Given the description of an element on the screen output the (x, y) to click on. 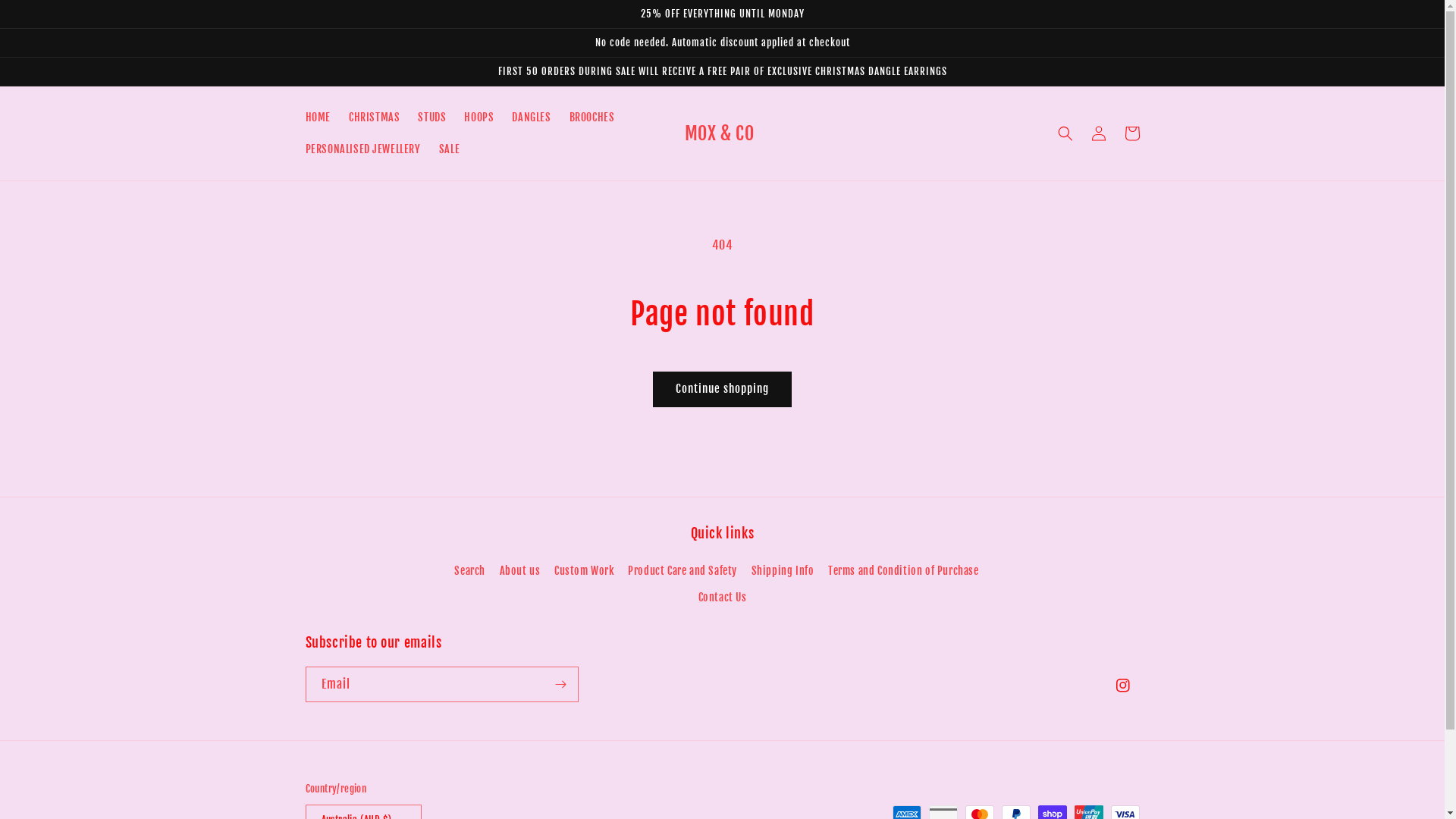
Instagram Element type: text (1122, 685)
Continue shopping Element type: text (721, 389)
Terms and Condition of Purchase Element type: text (903, 570)
BROOCHES Element type: text (592, 117)
MOX & CO Element type: text (718, 132)
About us Element type: text (519, 570)
Contact Us Element type: text (721, 596)
Custom Work Element type: text (584, 570)
PERSONALISED JEWELLERY Element type: text (362, 149)
Log in Element type: text (1097, 133)
HOME Element type: text (316, 117)
STUDS Element type: text (431, 117)
Product Care and Safety Element type: text (682, 570)
CHRISTMAS Element type: text (373, 117)
SALE Element type: text (448, 149)
Shipping Info Element type: text (782, 570)
DANGLES Element type: text (530, 117)
Search Element type: text (469, 572)
HOOPS Element type: text (478, 117)
Cart Element type: text (1131, 133)
